Given the description of an element on the screen output the (x, y) to click on. 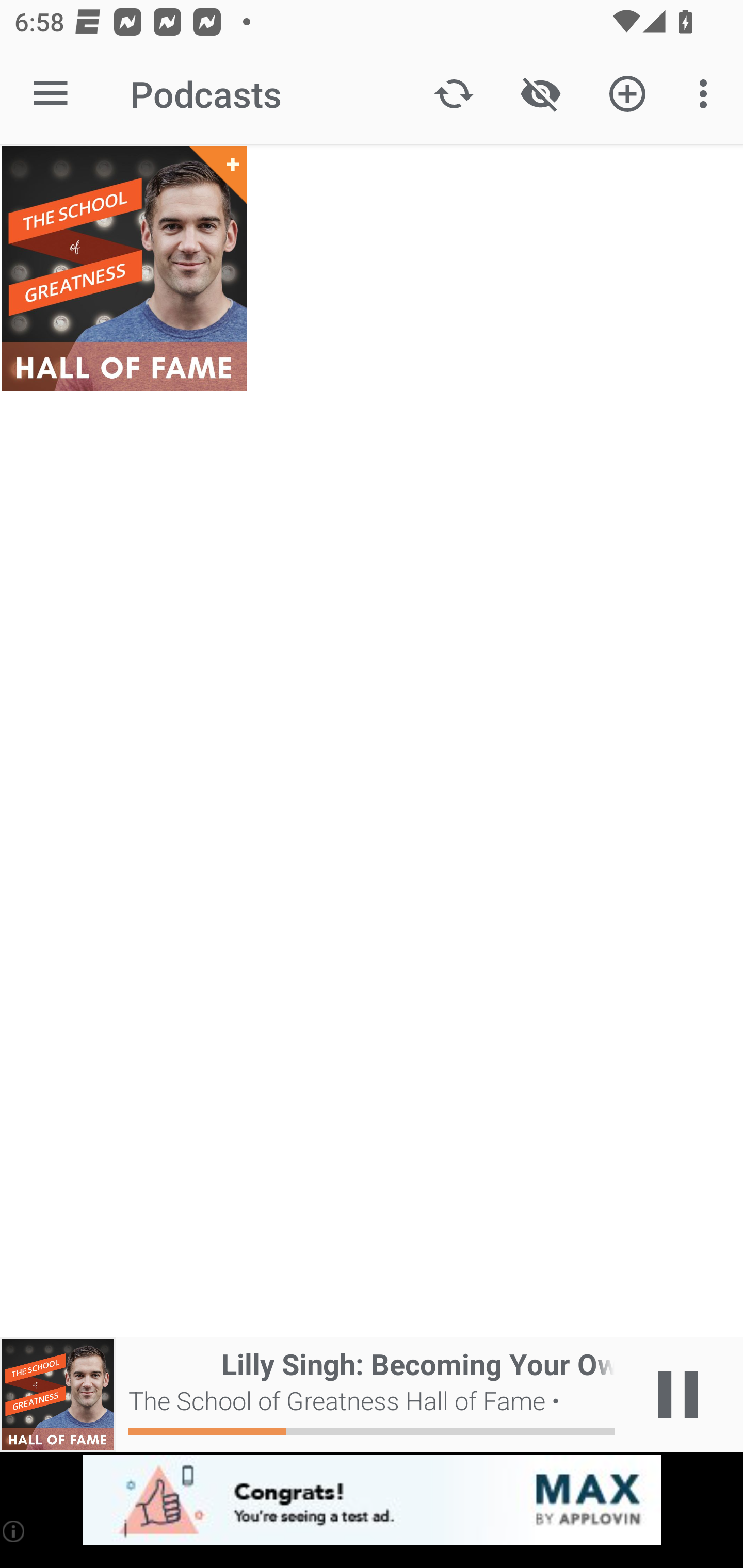
Open navigation sidebar (50, 93)
Update (453, 93)
Show / Hide played content (540, 93)
Add new Podcast (626, 93)
More options (706, 93)
The School of Greatness Hall of Fame + (124, 268)
Play / Pause (677, 1394)
app-monetization (371, 1500)
(i) (14, 1531)
